Given the description of an element on the screen output the (x, y) to click on. 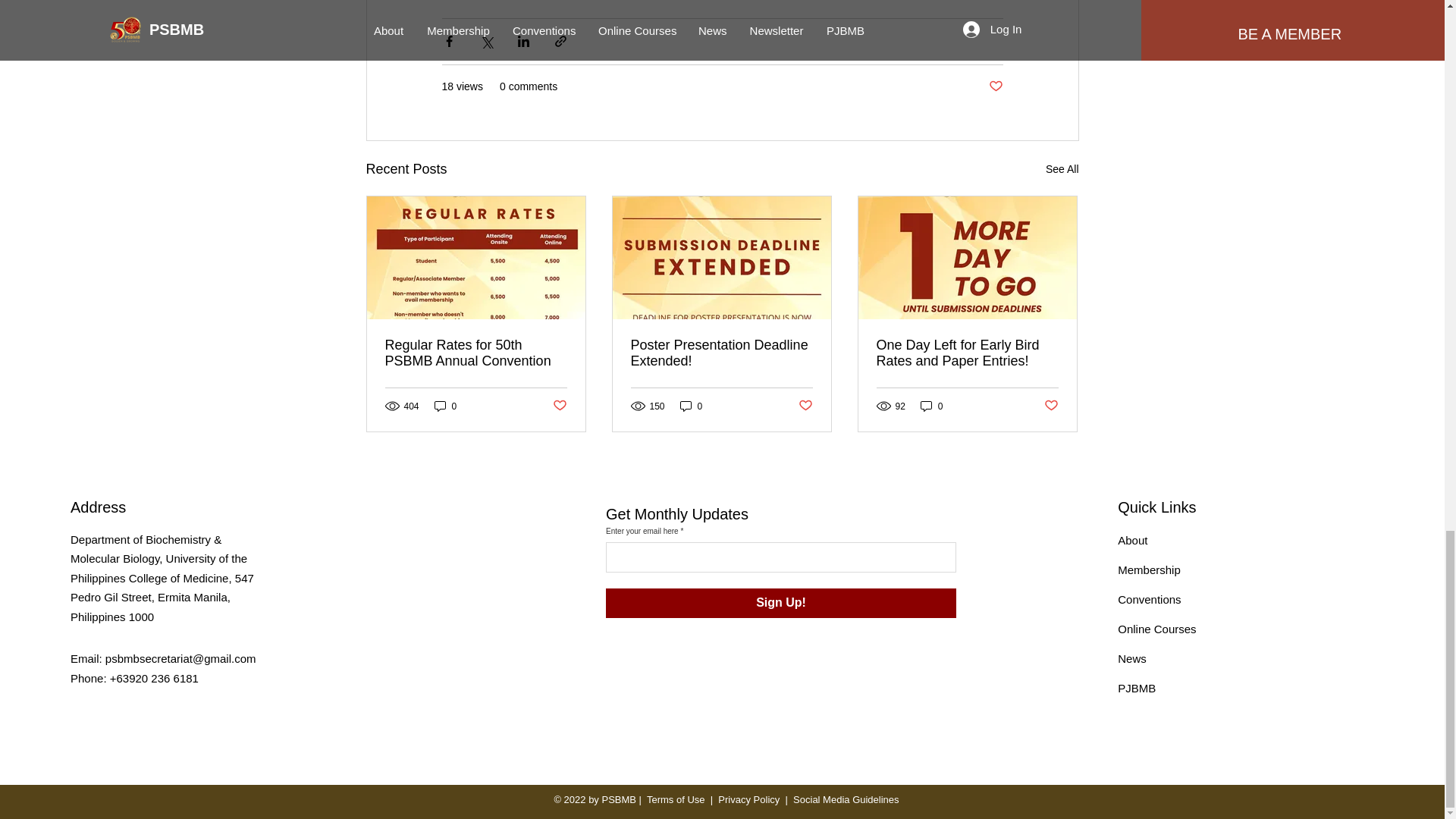
Sign Up! (780, 603)
Regular Rates for 50th PSBMB Annual Convention (476, 353)
One Day Left for Early Bird Rates and Paper Entries! (967, 353)
0 (931, 405)
About (1132, 540)
Post not marked as liked (804, 406)
0 (691, 405)
Post not marked as liked (1050, 406)
Post not marked as liked (995, 86)
Post not marked as liked (558, 406)
